Given the description of an element on the screen output the (x, y) to click on. 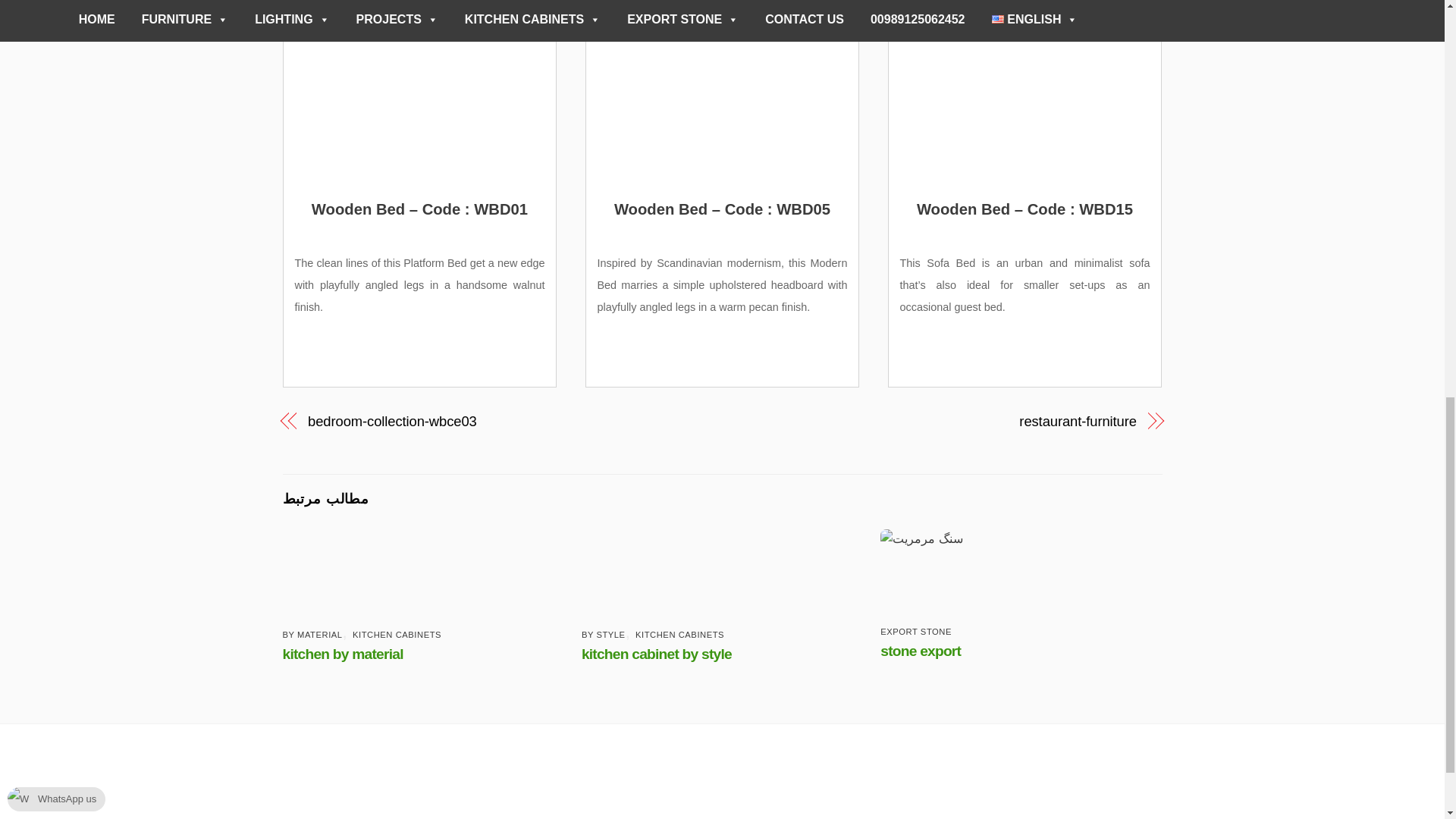
Wooden-Bed-WBD15-2 (1024, 92)
Wooden-Bed-WBD05-7 (722, 92)
Wooden-Bed-WBD01-3 (419, 92)
